Given the description of an element on the screen output the (x, y) to click on. 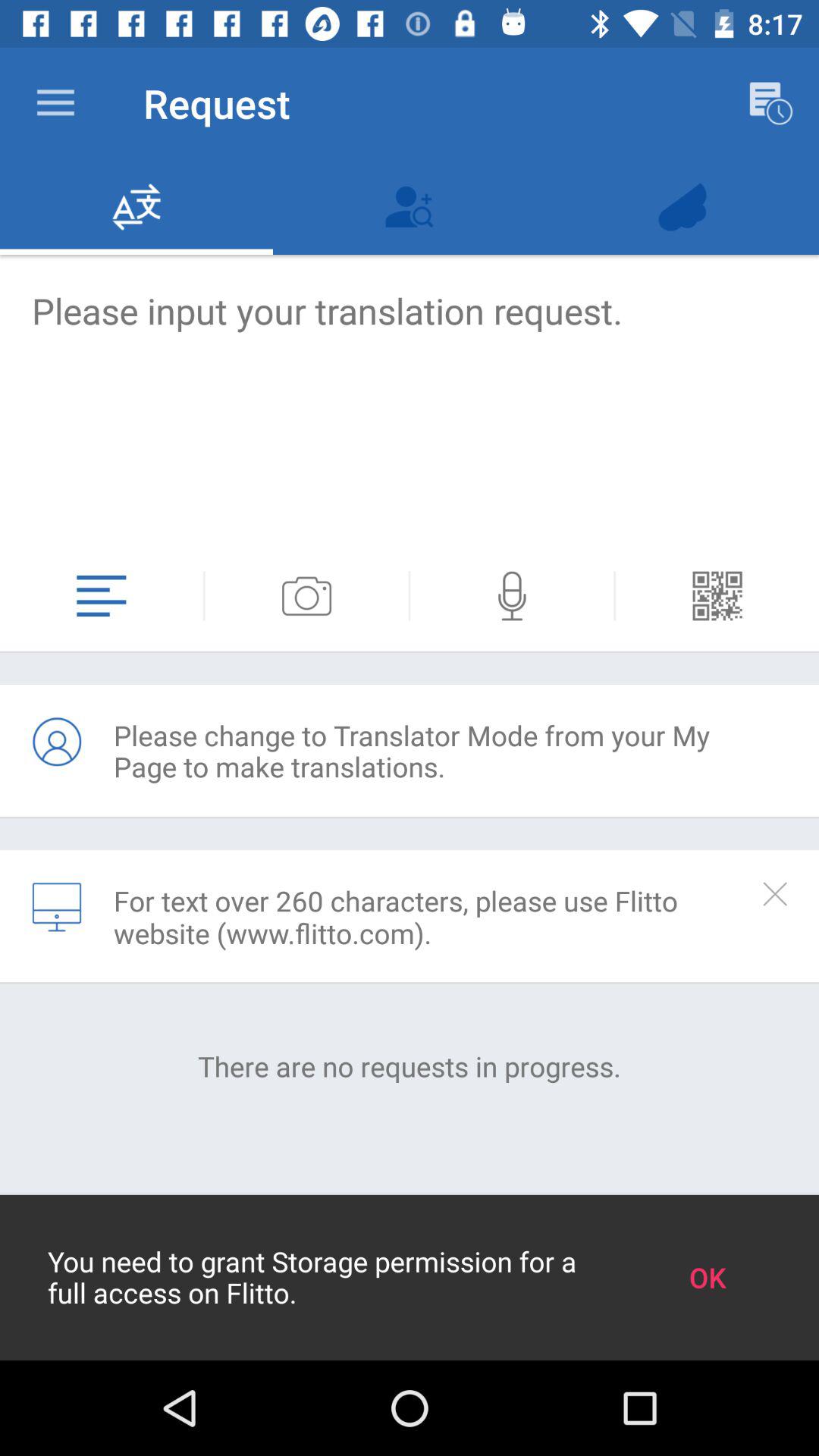
click item above please change to app (204, 596)
